Given the description of an element on the screen output the (x, y) to click on. 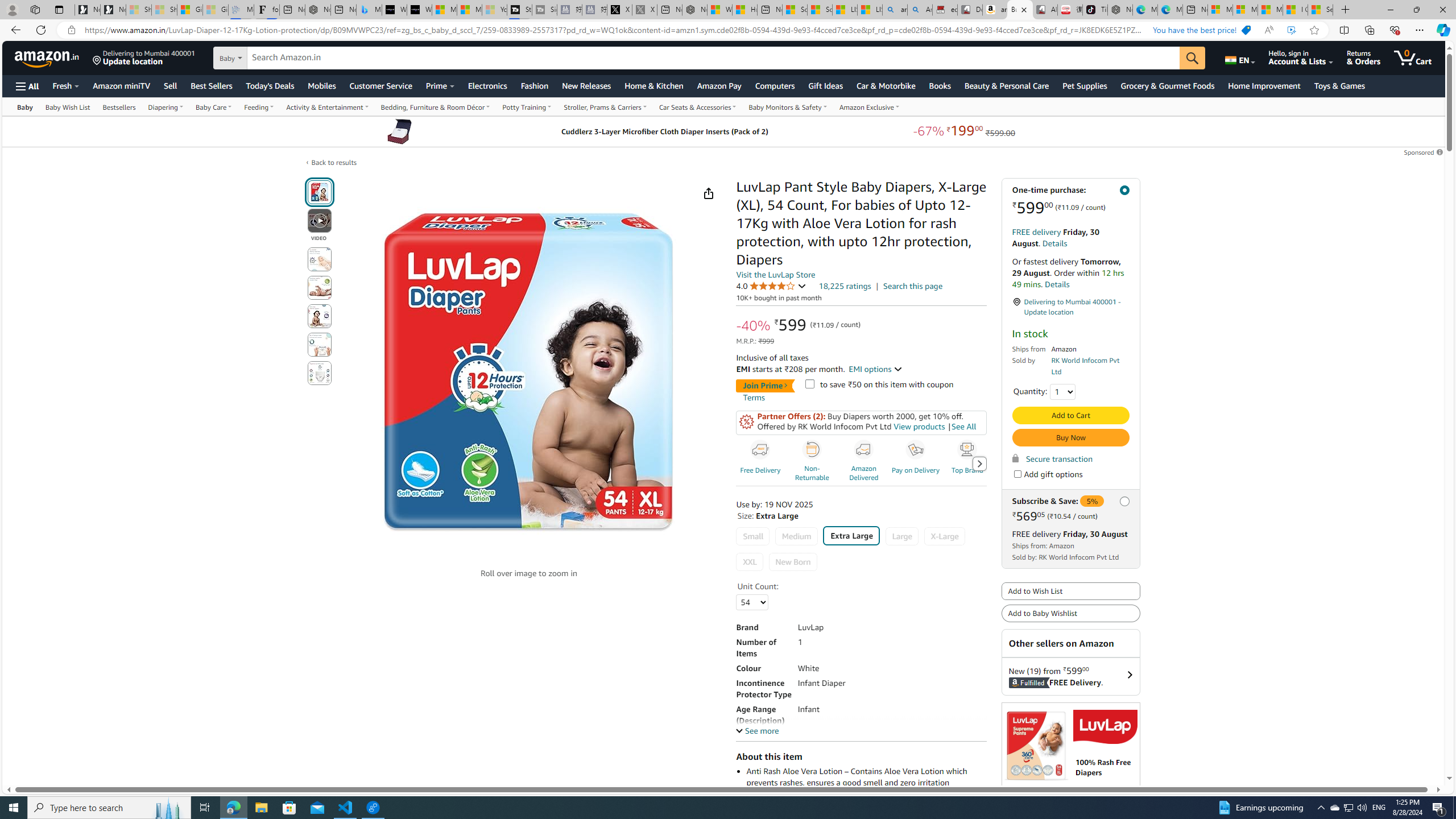
Add to Wish List (1070, 591)
Baby (24, 106)
Top Brand (966, 449)
Next page (979, 464)
Home & Kitchen (653, 85)
Amazon Delivered (863, 449)
I Gained 20 Pounds of Muscle in 30 Days! | Watch (1295, 9)
Amazon Echo Dot PNG - Search Images (919, 9)
Large (901, 536)
